Given the description of an element on the screen output the (x, y) to click on. 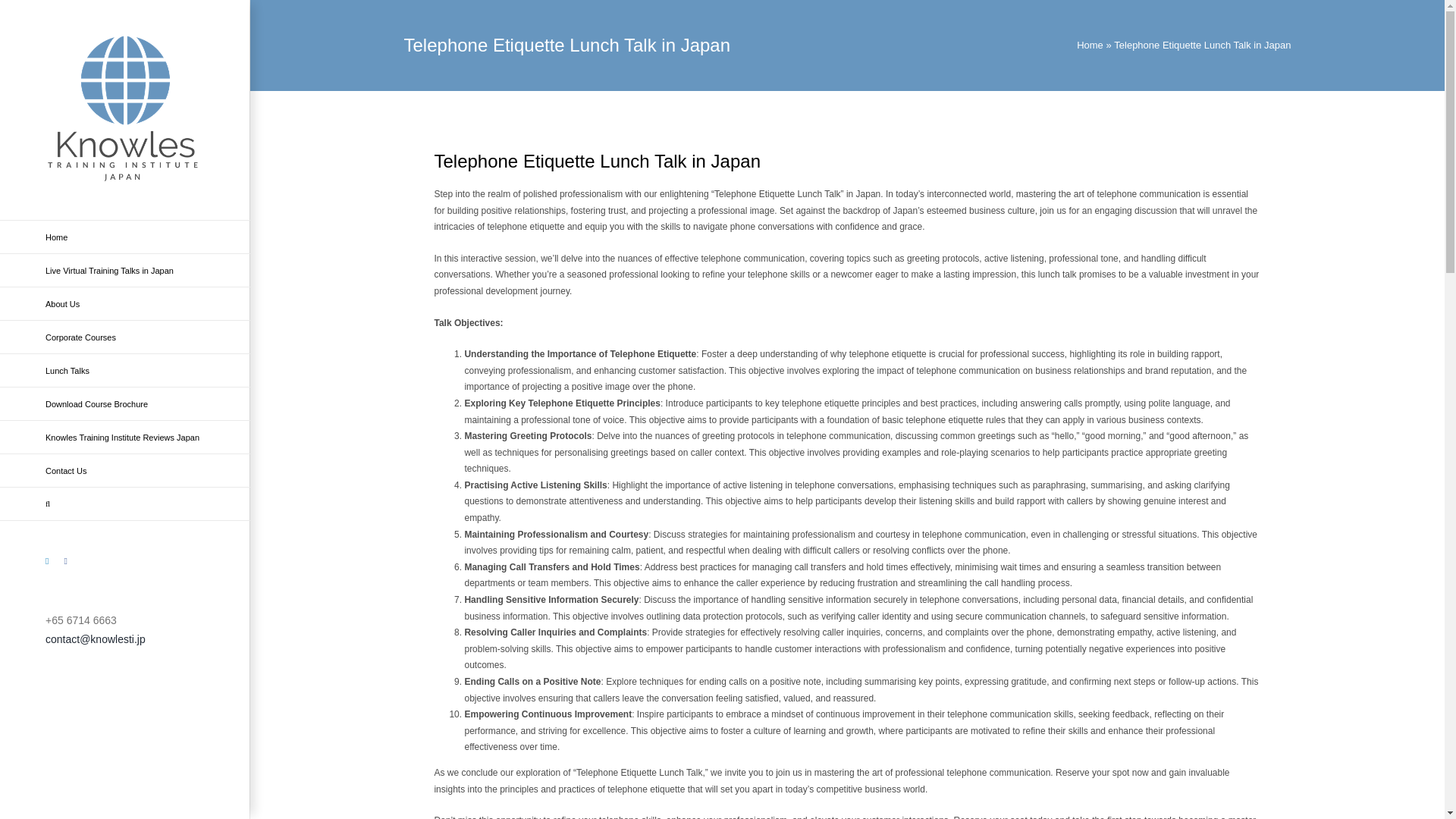
Corporate Courses (125, 337)
Live Virtual Training Talks in Japan (125, 270)
Knowles Training Institute Reviews Japan (125, 437)
About Us (125, 304)
Lunch Talks (125, 370)
Contact Us (125, 470)
Download Course Brochure (125, 403)
Home (125, 236)
Search (125, 503)
Home (1090, 44)
